Given the description of an element on the screen output the (x, y) to click on. 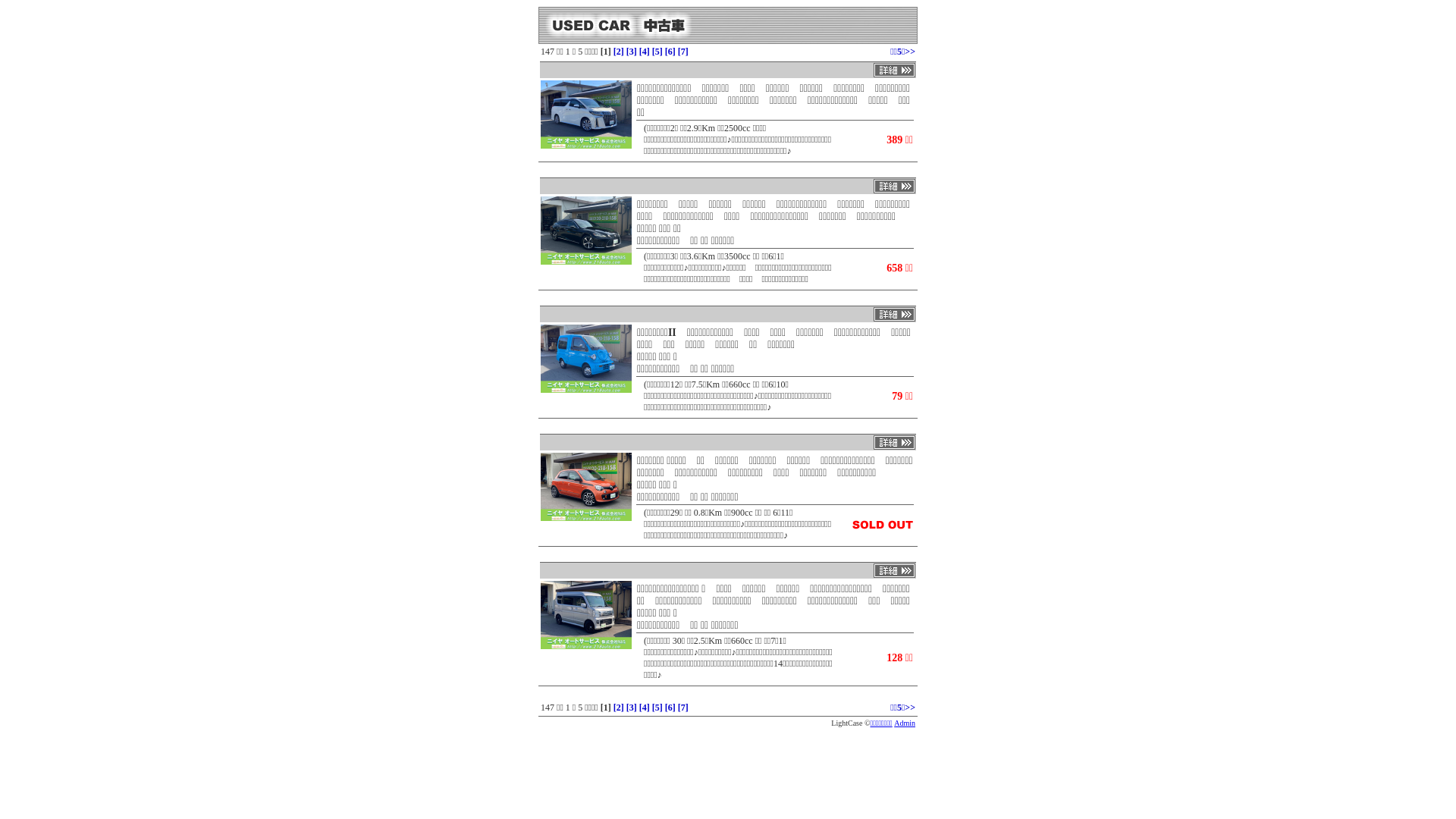
[5] Element type: text (657, 51)
[2] Element type: text (618, 707)
[6] Element type: text (670, 707)
[7] Element type: text (682, 707)
[6] Element type: text (670, 51)
[3] Element type: text (631, 707)
[4] Element type: text (644, 51)
[2] Element type: text (618, 51)
Admin Element type: text (904, 722)
[5] Element type: text (657, 707)
[3] Element type: text (631, 51)
[4] Element type: text (644, 707)
[7] Element type: text (682, 51)
